Given the description of an element on the screen output the (x, y) to click on. 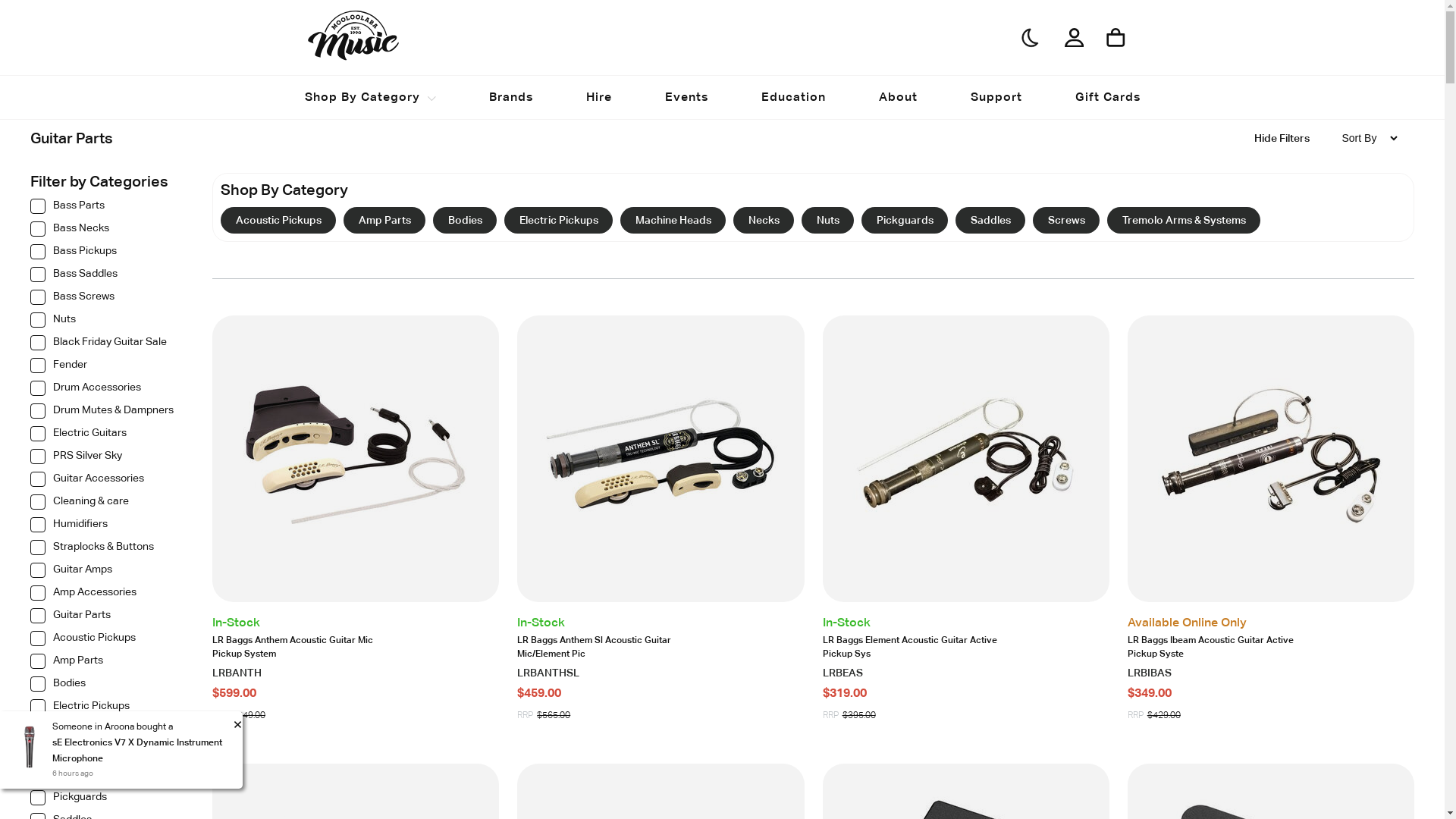
Amp Parts Element type: text (384, 220)
Electric Guitars Element type: text (106, 437)
Support Element type: text (996, 96)
Humidifiers Element type: text (106, 528)
Acoustic Pickups Element type: text (277, 220)
Machine Heads Element type: text (672, 220)
Sort By
Most Popular
Name
SKU
Lowest Price
Highest Price Element type: text (1369, 138)
Brands Element type: text (510, 96)
Necks Element type: text (763, 220)
Nuts Element type: text (106, 323)
Electric Pickups Element type: text (106, 710)
Hire Element type: text (598, 96)
Bass Screws Element type: text (106, 300)
Bass Saddles Element type: text (106, 277)
Bass Pickups Element type: text (106, 255)
PRS Silver Sky Element type: text (106, 459)
Guitar Parts Element type: text (106, 619)
Education Element type: text (793, 96)
Cleaning & care Element type: text (106, 505)
Hide Filters Element type: text (1281, 138)
Gift Cards Element type: text (1107, 96)
Screws Element type: text (1065, 220)
Amp Parts Element type: text (106, 664)
Saddles Element type: text (990, 220)
Acoustic Pickups Element type: text (106, 641)
Bodies Element type: text (106, 687)
Guitar Accessories Element type: text (106, 482)
Straplocks & Buttons Element type: text (106, 550)
Drum Mutes & Dampners Element type: text (106, 414)
Machine Heads Element type: text (106, 732)
Drum Accessories Element type: text (106, 391)
Tremolo Arms & Systems Element type: text (1183, 220)
Bodies Element type: text (464, 220)
Pickguards Element type: text (904, 220)
Necks Element type: text (106, 755)
Events Element type: text (685, 96)
Black Friday Guitar Sale Element type: text (106, 346)
Fender Element type: text (106, 368)
Amp Accessories Element type: text (106, 596)
Electric Pickups Element type: text (558, 220)
Shop By Category Element type: text (362, 96)
Nuts Element type: text (106, 778)
Bass Parts Element type: text (106, 209)
Guitar Amps Element type: text (106, 573)
0 Element type: text (18, 20)
About Element type: text (897, 96)
Bass Necks Element type: text (106, 232)
Pickguards Element type: text (106, 801)
Nuts Element type: text (827, 220)
